Given the description of an element on the screen output the (x, y) to click on. 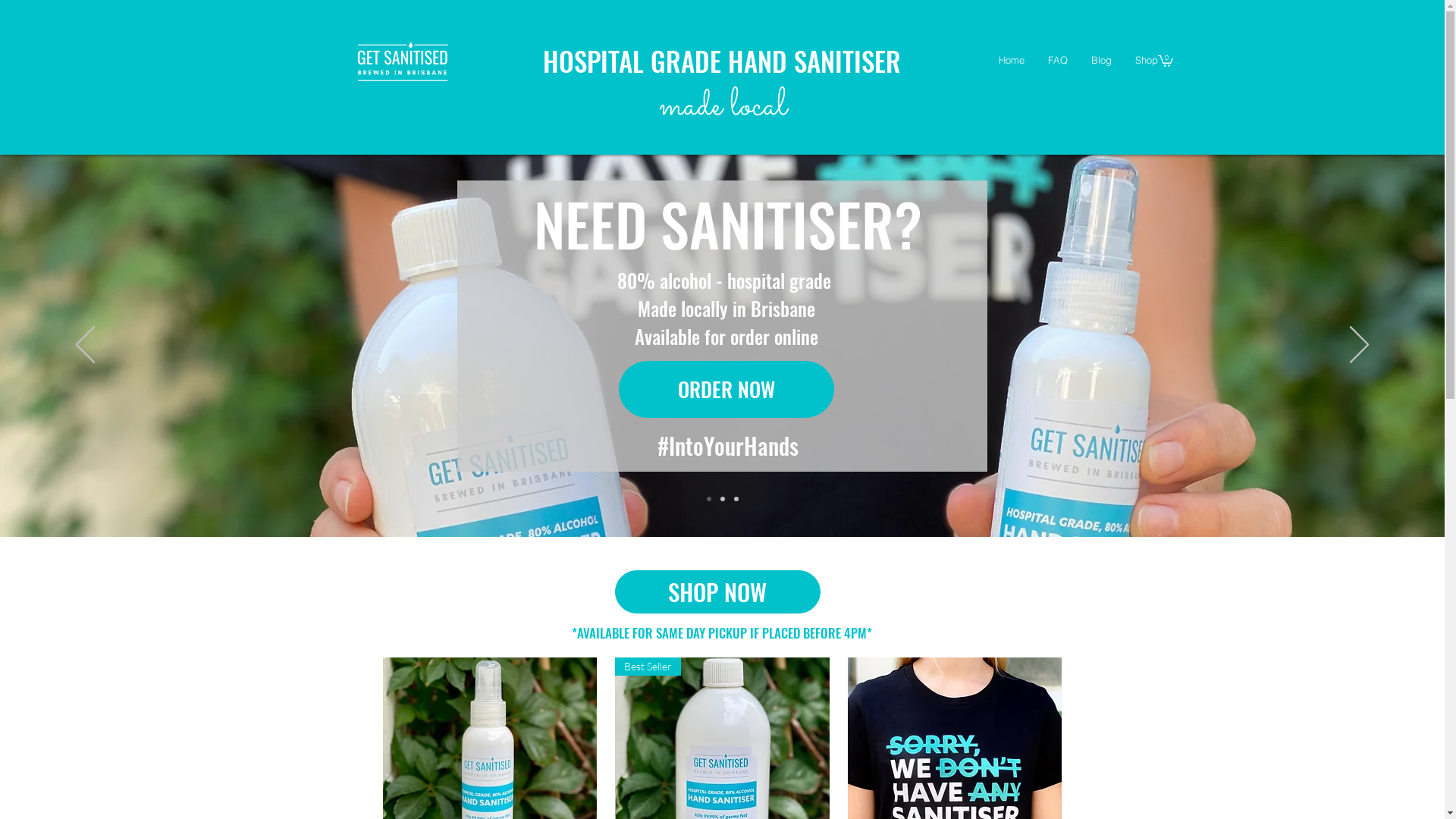
Blog Element type: text (1100, 60)
Shop Element type: text (1145, 60)
ORDER NOW Element type: text (726, 388)
Home Element type: text (1011, 60)
0 Element type: text (1164, 59)
SHOP NOW Element type: text (716, 591)
FAQ Element type: text (1057, 60)
